Given the description of an element on the screen output the (x, y) to click on. 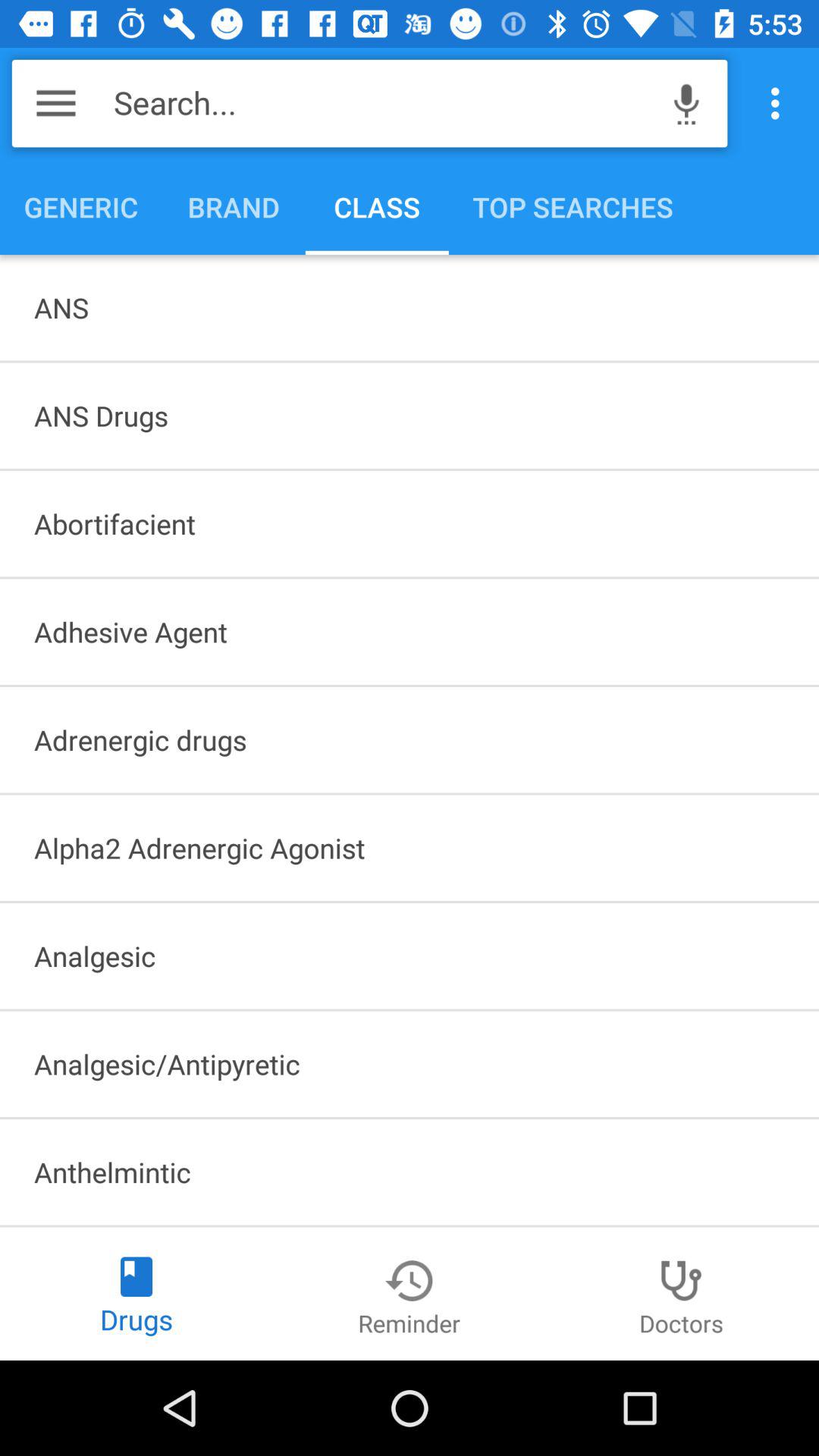
press the anthelmintic item (409, 1171)
